Given the description of an element on the screen output the (x, y) to click on. 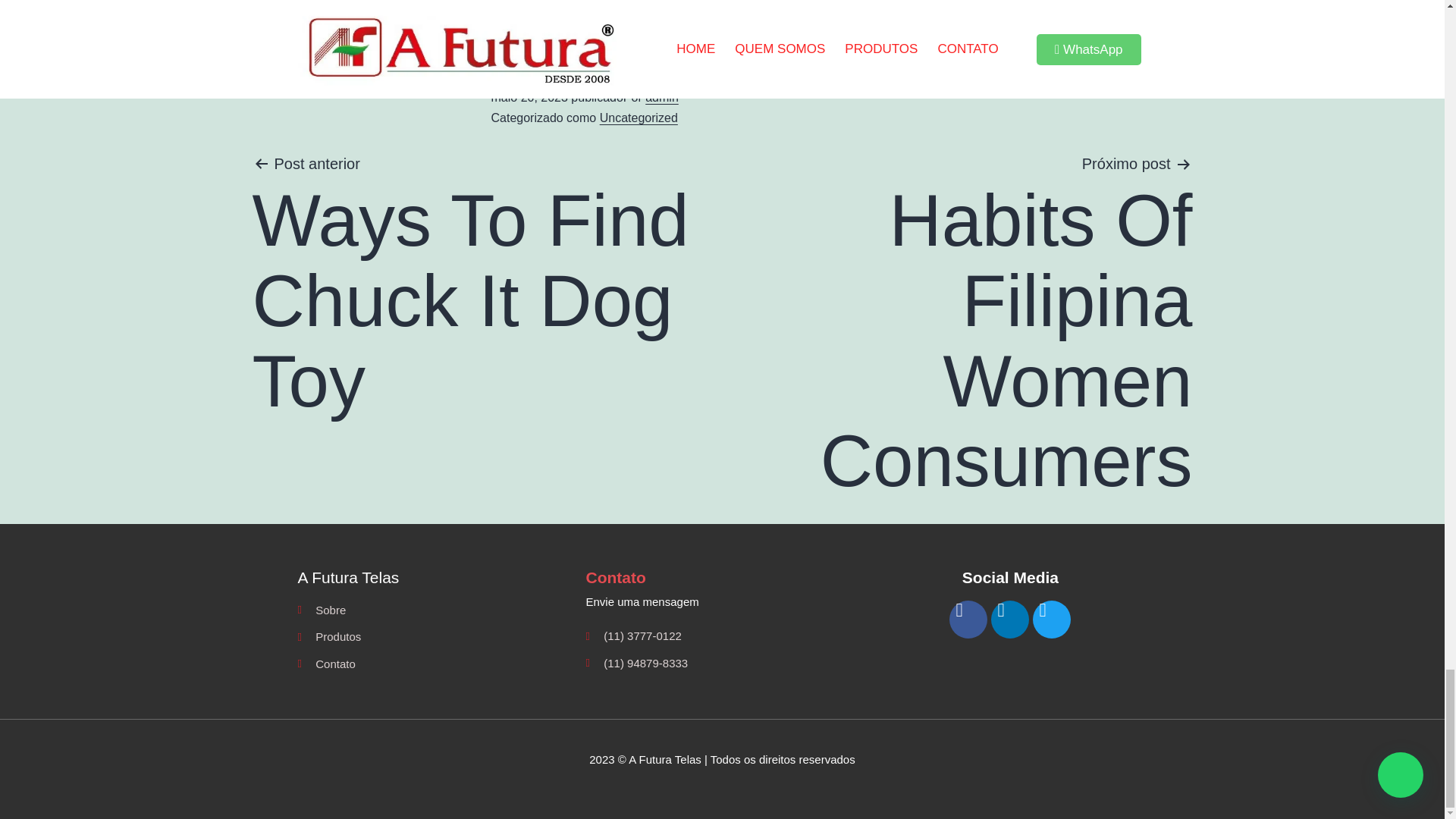
admin (661, 97)
Envie uma mensagem (722, 601)
Contato (482, 285)
Uncategorized (433, 664)
Produtos (638, 117)
Sobre (433, 637)
